Given the description of an element on the screen output the (x, y) to click on. 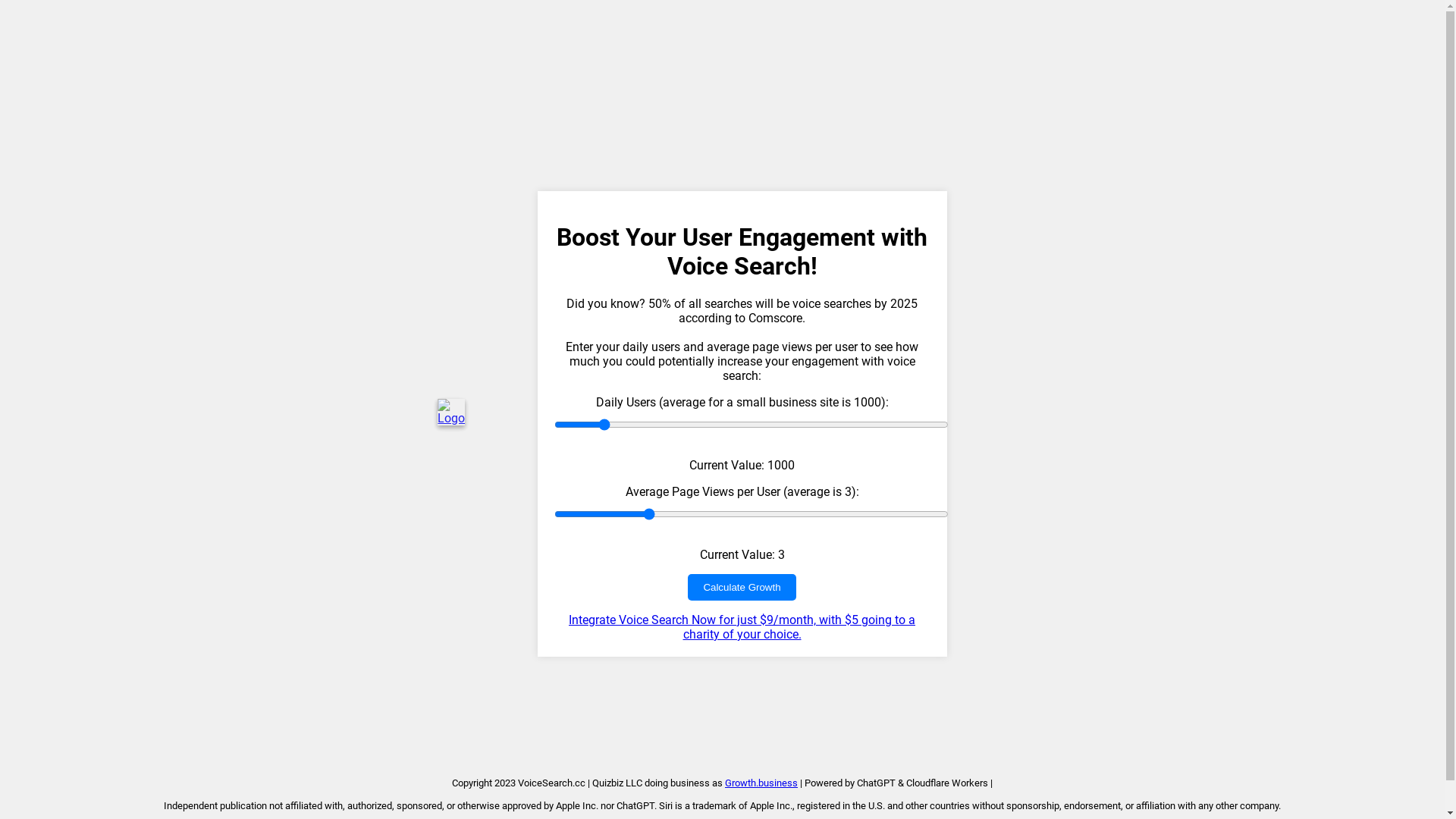
Growth.business Element type: text (760, 782)
Calculate Growth Element type: text (741, 587)
